Given the description of an element on the screen output the (x, y) to click on. 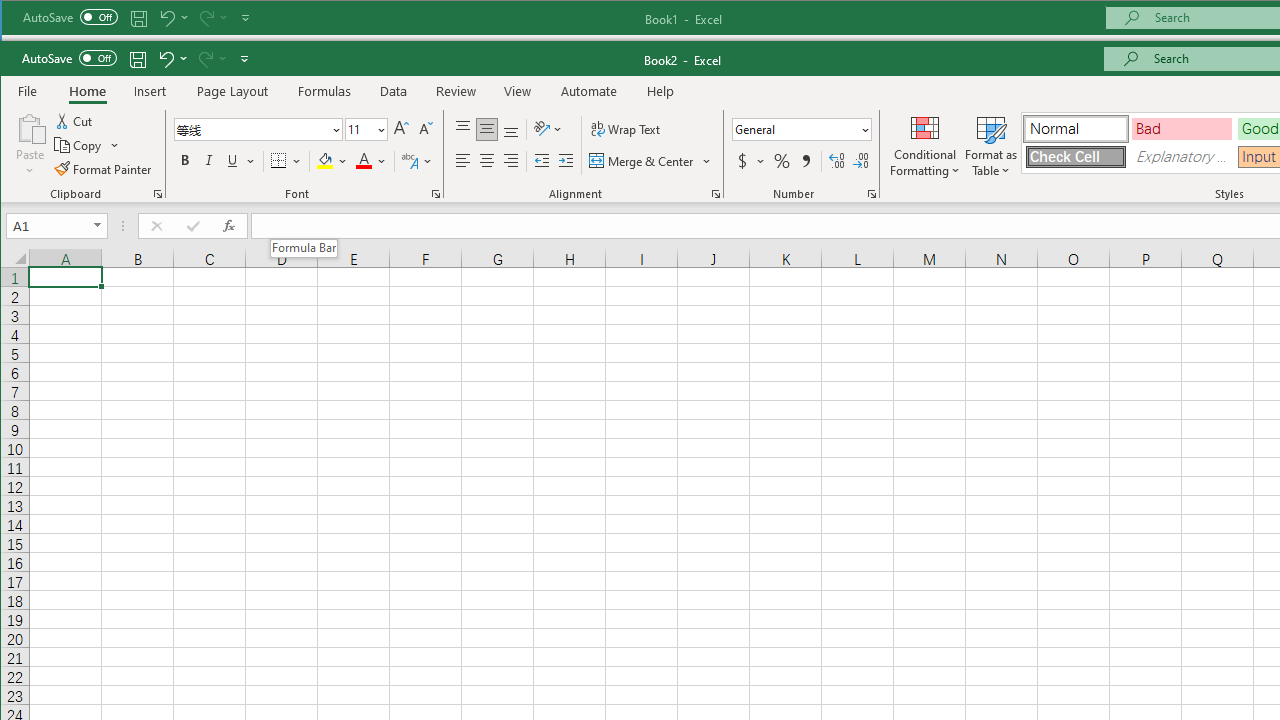
Align Right (511, 160)
Format Painter (104, 168)
Underline (232, 160)
Bad (1181, 129)
Bottom Align (511, 129)
Increase Decimal (836, 160)
Check Cell (1075, 157)
Format Cell Number (872, 193)
Middle Align (486, 129)
Decrease Decimal (860, 160)
More Options (761, 160)
Underline (239, 160)
